Given the description of an element on the screen output the (x, y) to click on. 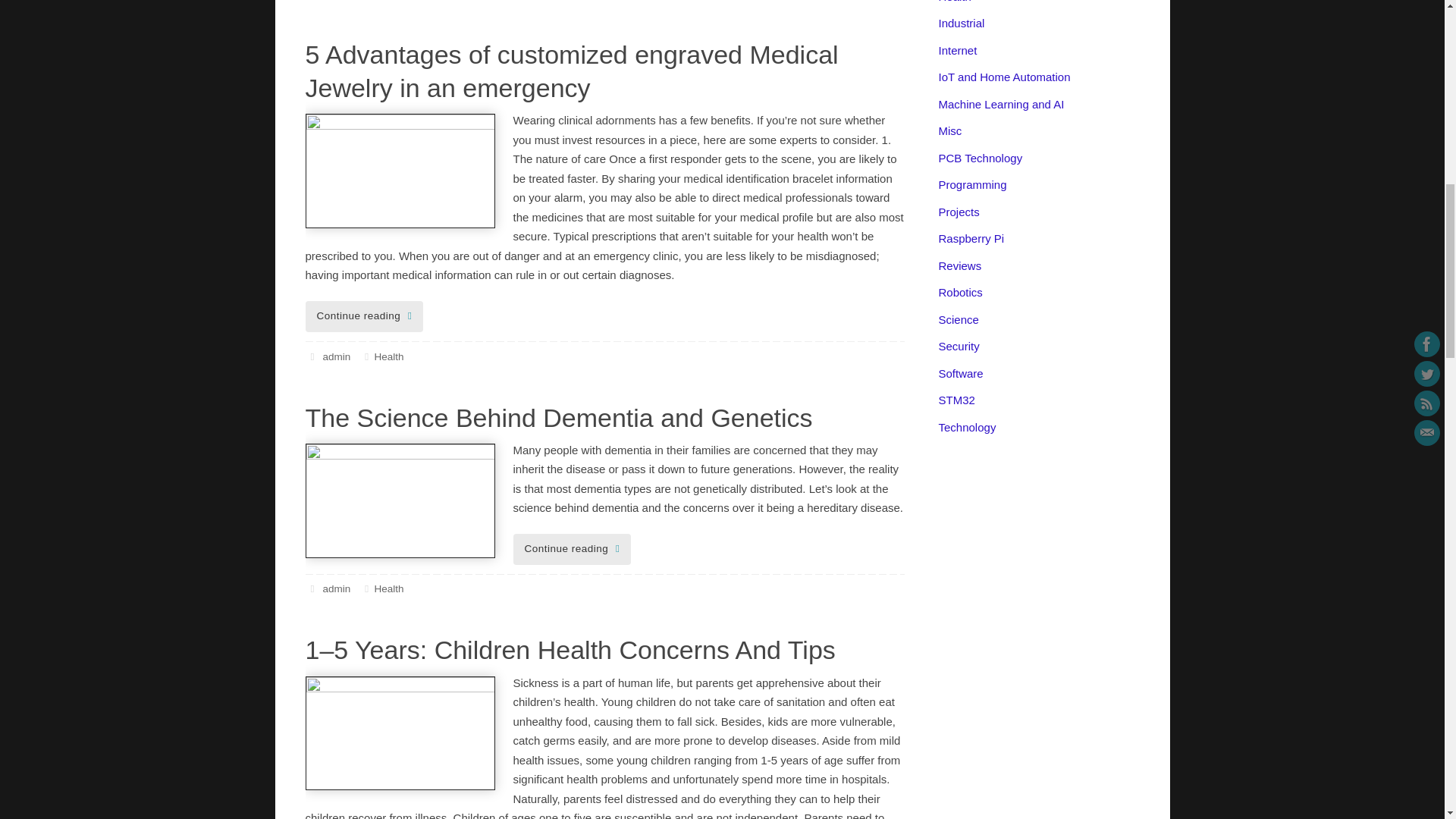
Continue reading (571, 549)
Health (388, 356)
Continue reading (363, 316)
Health (388, 588)
admin (335, 356)
admin (335, 588)
The Science Behind Dementia and Genetics (558, 417)
